Given the description of an element on the screen output the (x, y) to click on. 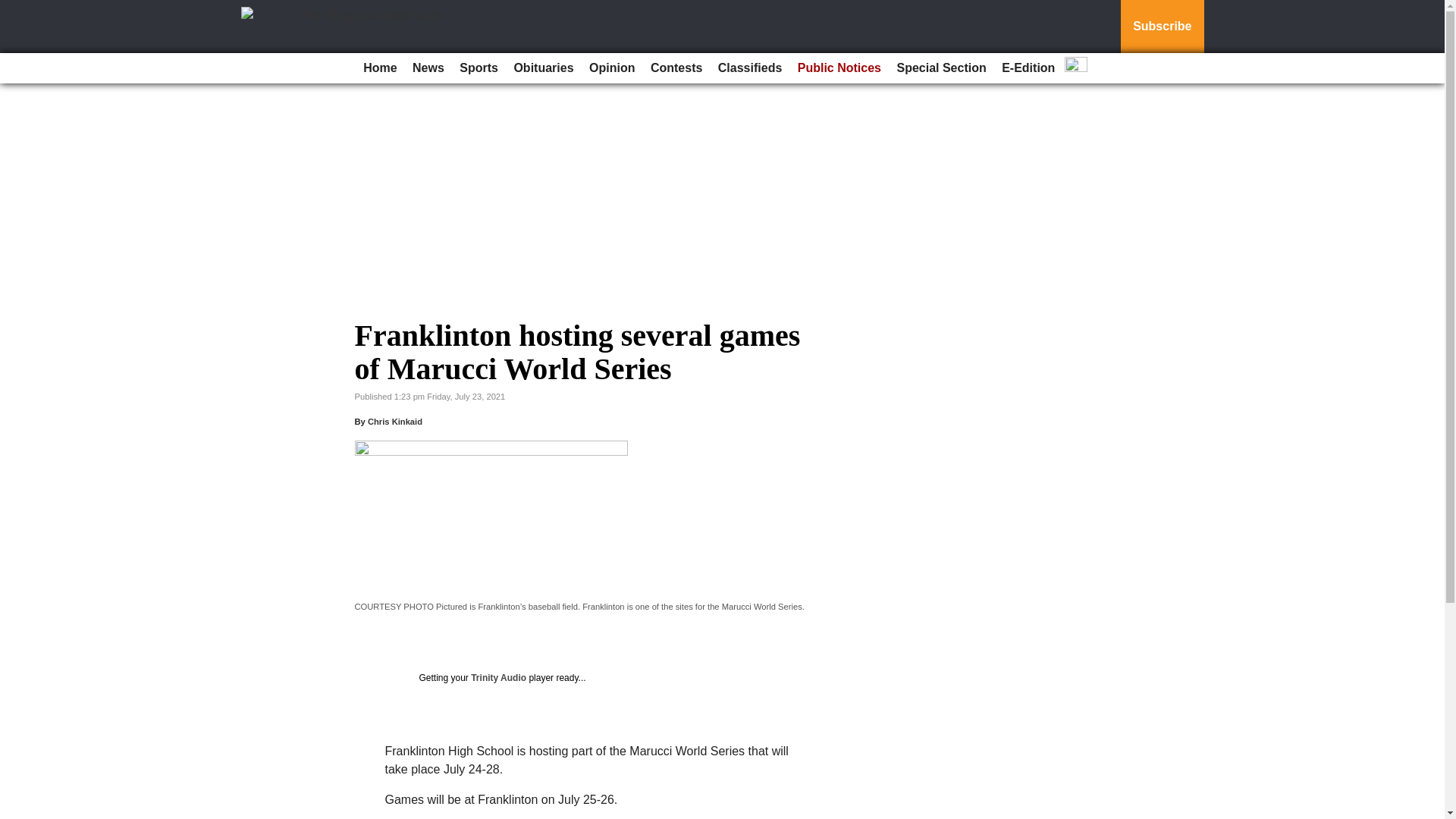
Opinion (611, 68)
Go (13, 9)
Obituaries (542, 68)
Home (379, 68)
Trinity Audio (497, 677)
Public Notices (839, 68)
Sports (477, 68)
Chris Kinkaid (395, 420)
Special Section (940, 68)
E-Edition (1028, 68)
